Given the description of an element on the screen output the (x, y) to click on. 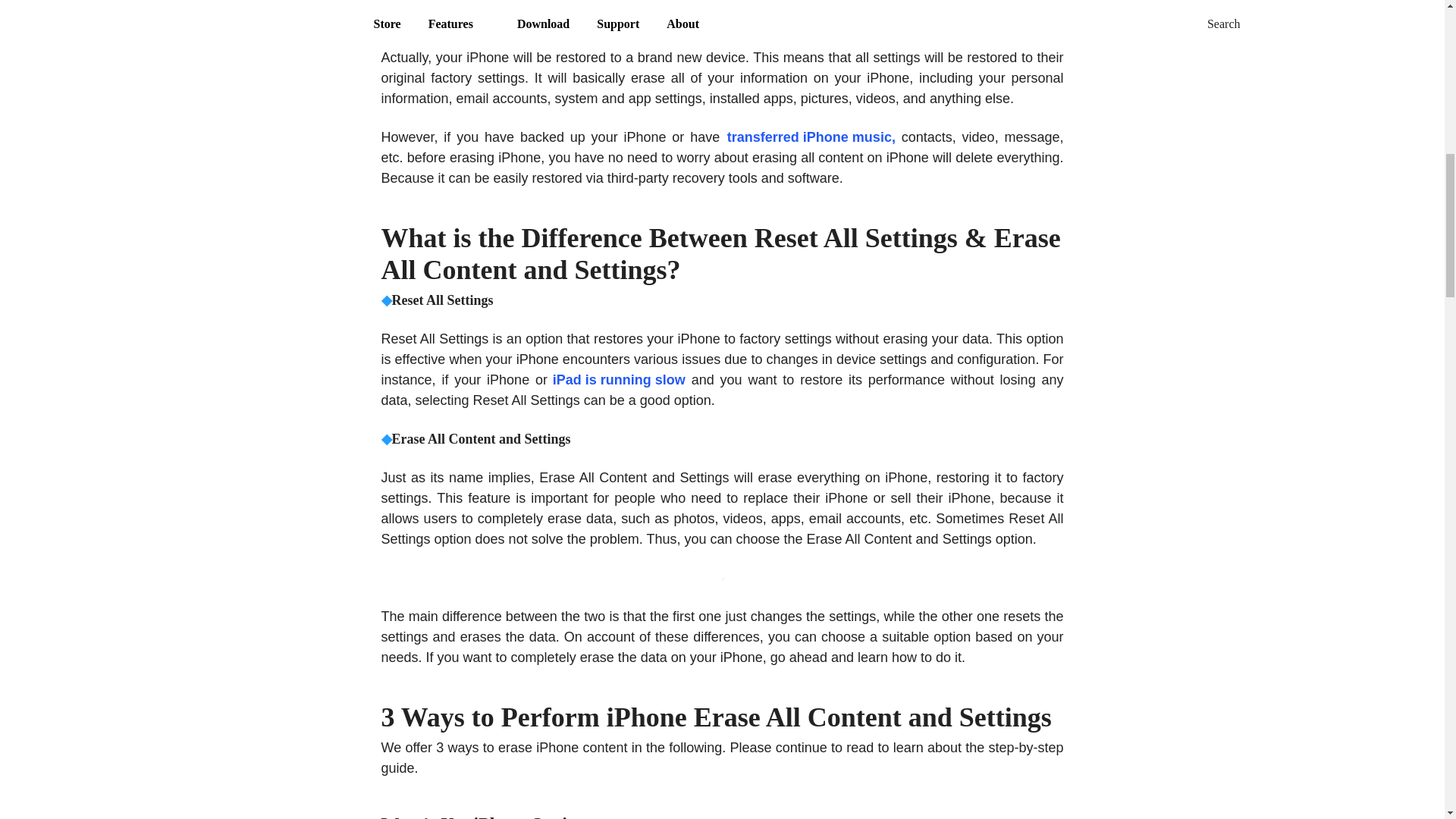
transferred iPhone music, (810, 137)
 iPad is running slow (616, 380)
